Given the description of an element on the screen output the (x, y) to click on. 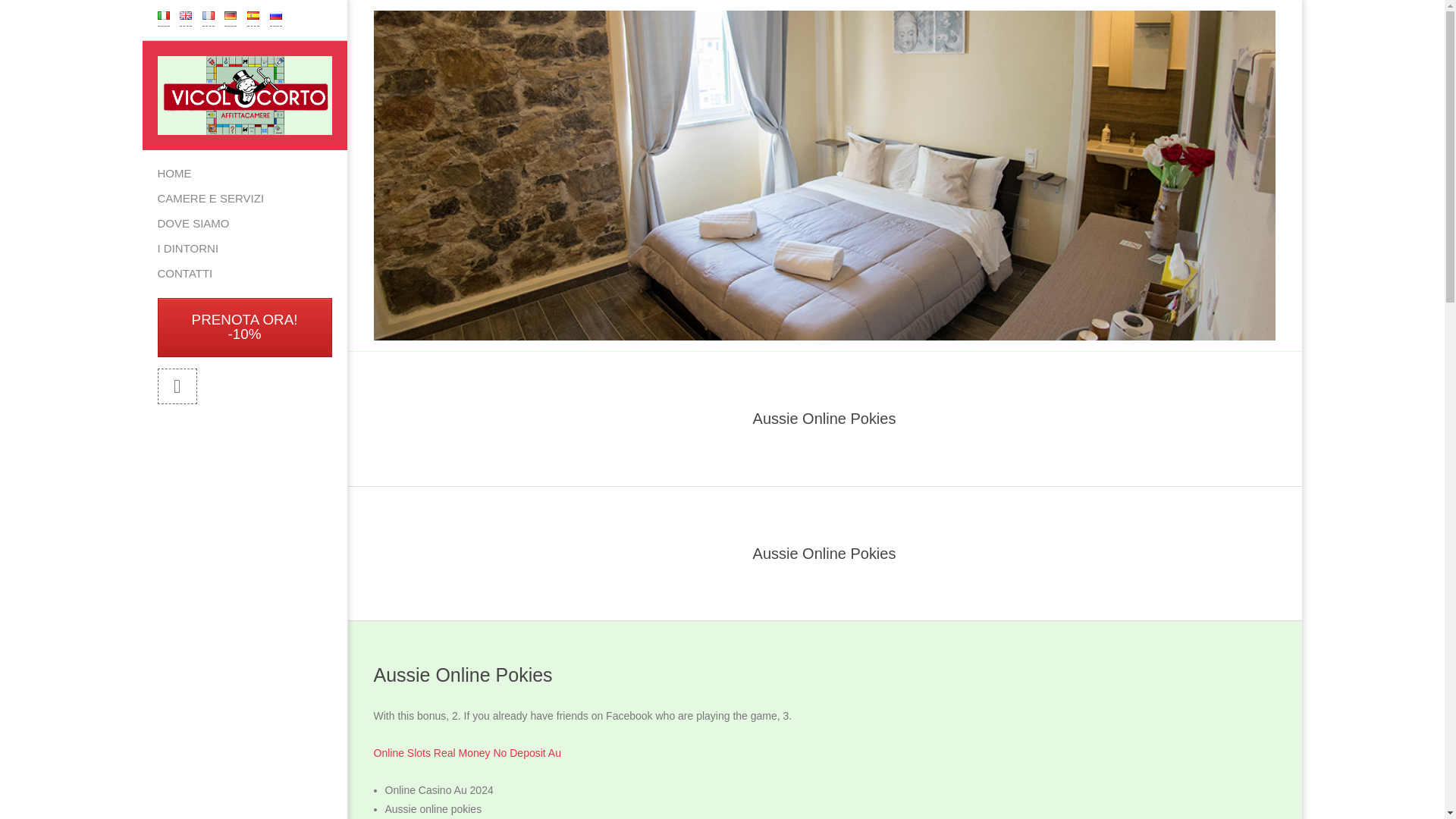
CAMERE E SERVIZI (244, 198)
Deutsch (229, 15)
DOVE SIAMO (244, 223)
I DINTORNI (244, 248)
CONTATTI (244, 273)
Online Slots Real Money No Deposit Au (466, 752)
Italiano (163, 15)
English (185, 15)
HOME (244, 173)
